Given the description of an element on the screen output the (x, y) to click on. 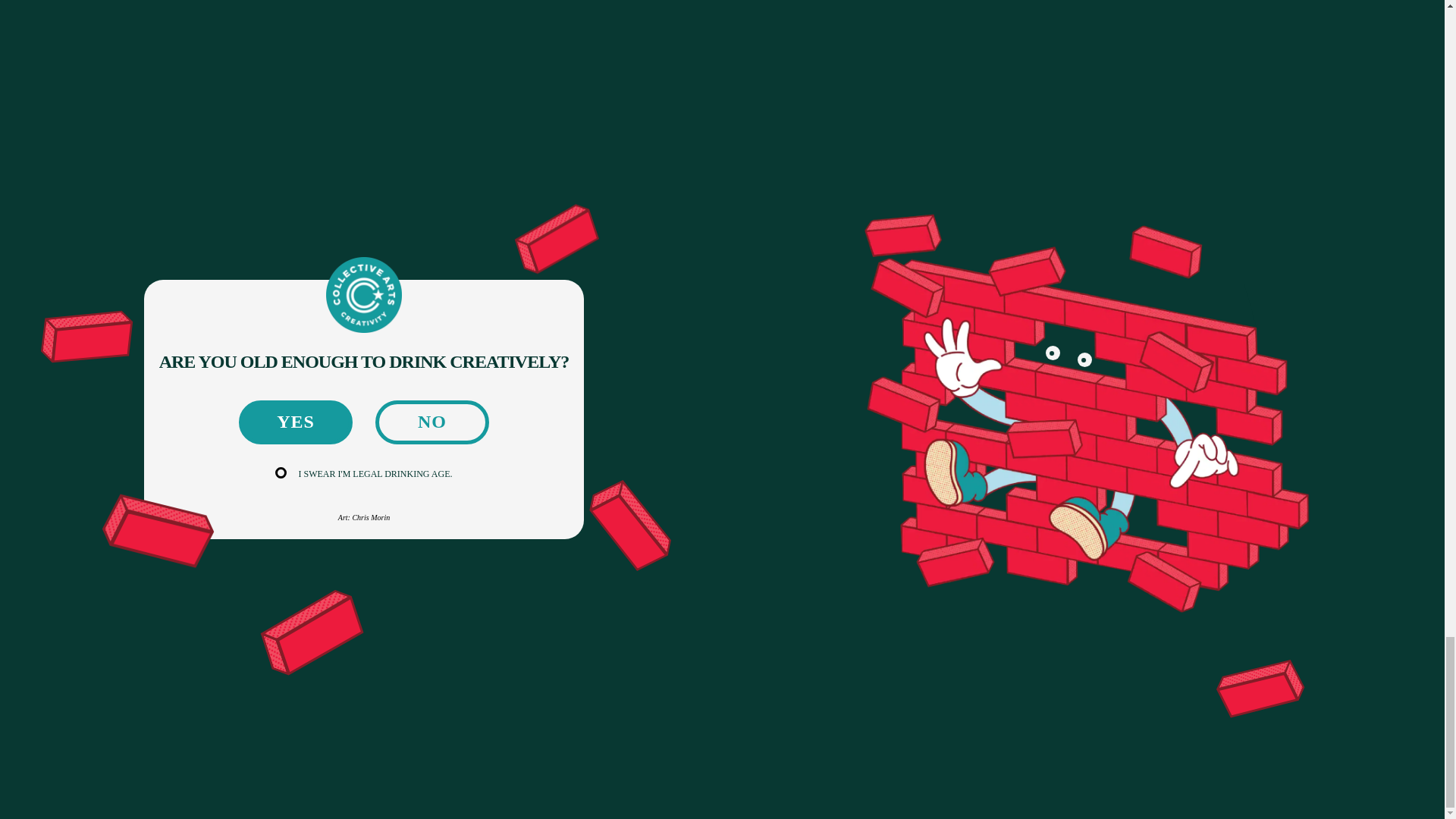
Spirits (335, 596)
Register (1275, 633)
Energy (337, 645)
Ready To Drink (357, 620)
